Given the description of an element on the screen output the (x, y) to click on. 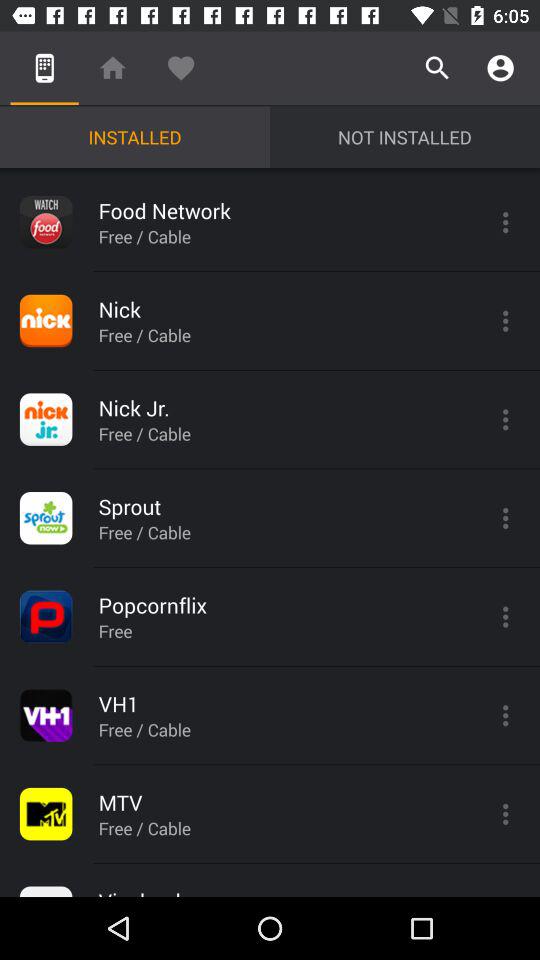
tap icon above the installed icon (180, 68)
